Given the description of an element on the screen output the (x, y) to click on. 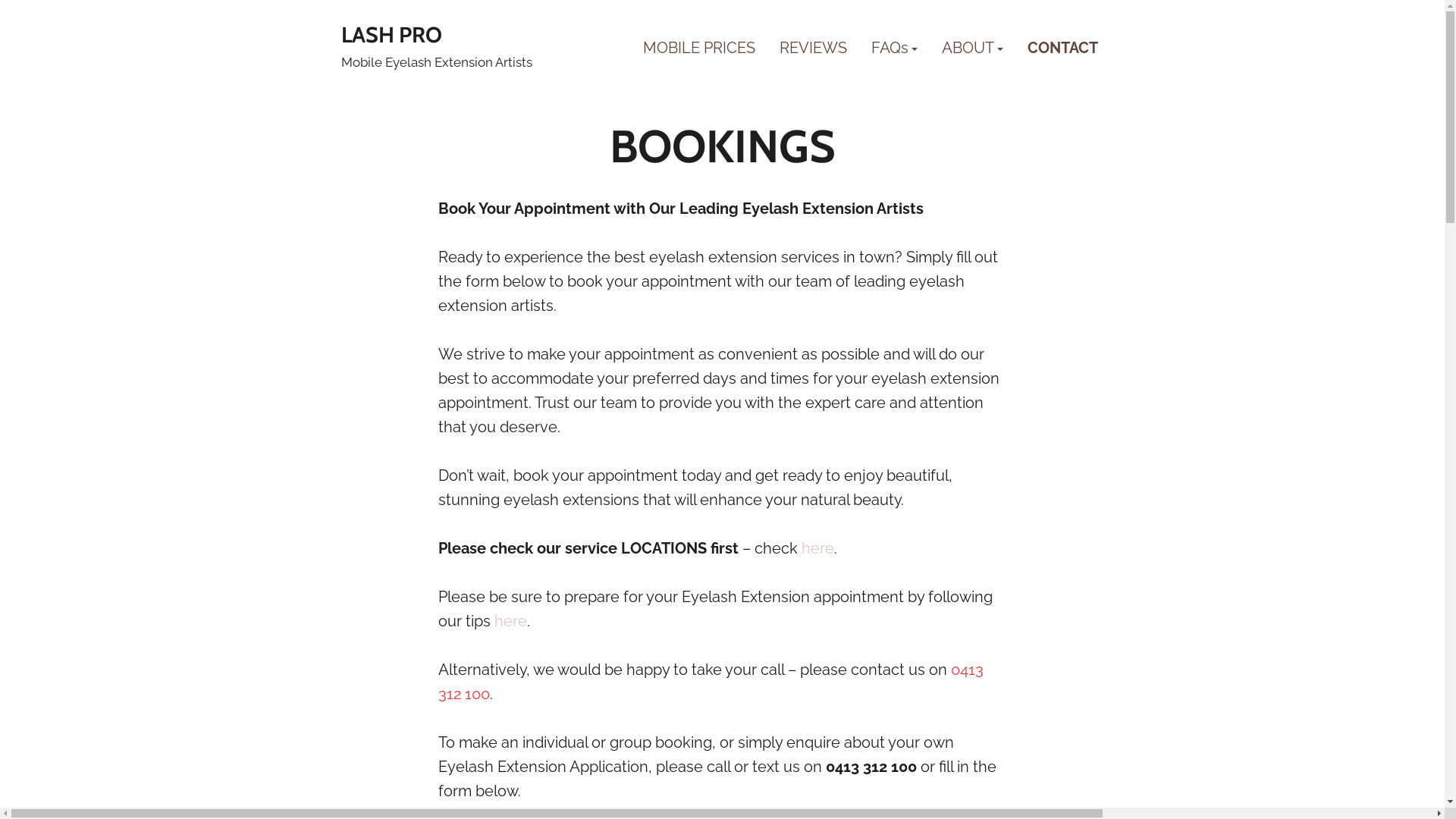
CONTACT Element type: text (1061, 48)
LASH PRO Element type: text (391, 34)
MOBILE PRICES Element type: text (699, 48)
here Element type: text (816, 548)
REVIEWS Element type: text (813, 48)
FAQs Element type: text (893, 48)
ABOUT Element type: text (972, 48)
here Element type: text (510, 620)
